Given the description of an element on the screen output the (x, y) to click on. 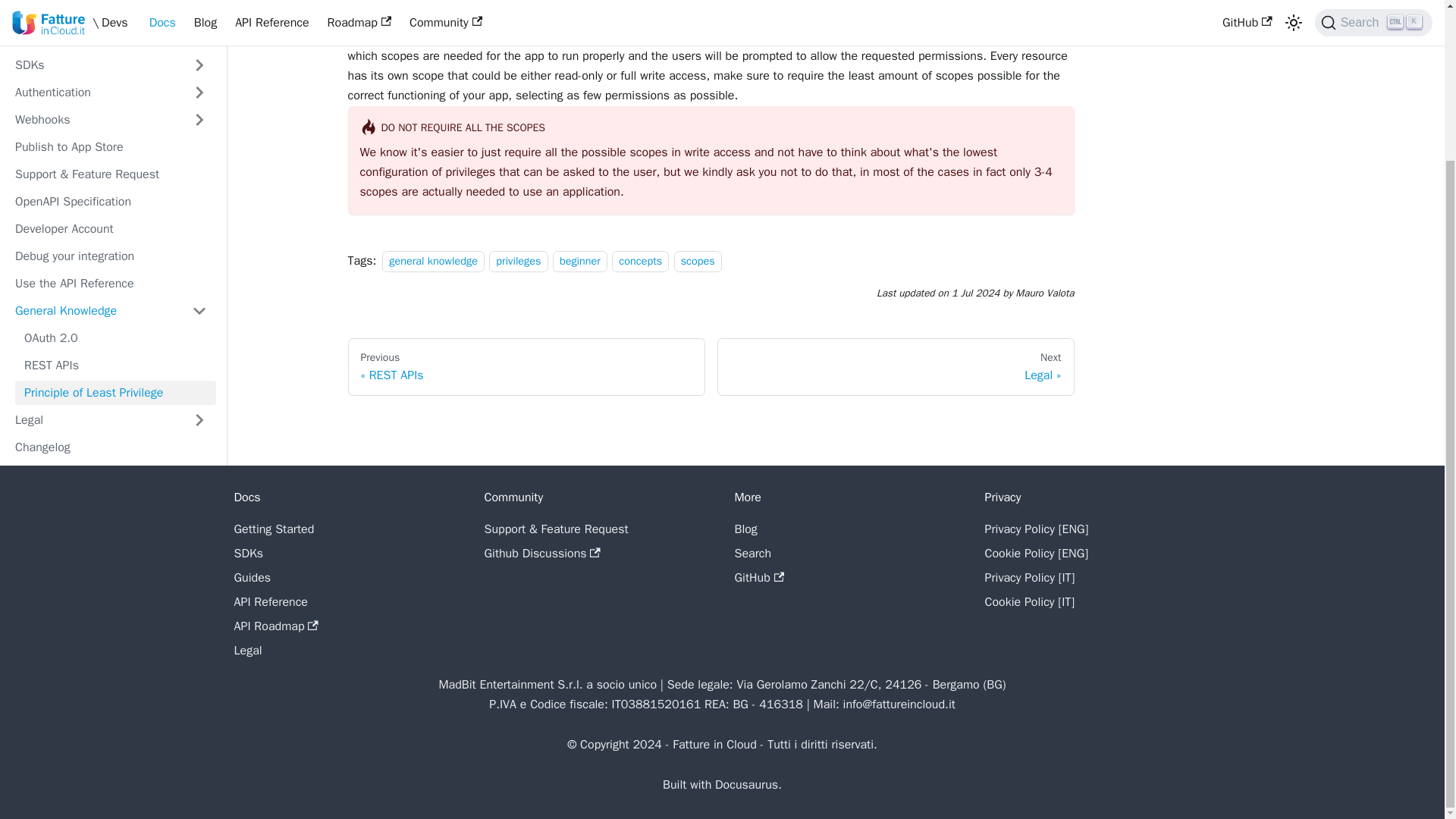
Debug your integration (110, 256)
Guides (94, 37)
Developer Account (110, 228)
General Knowledge (94, 310)
OAuth 2.0 (114, 337)
SDKs (94, 64)
Webhooks (94, 119)
Quickstarts (94, 11)
OpenAPI Specification (110, 201)
Legal (94, 419)
Use the API Reference (110, 283)
Principle of Least Privilege (114, 392)
REST APIs (114, 364)
Publish to App Store (110, 146)
Authentication (94, 92)
